Given the description of an element on the screen output the (x, y) to click on. 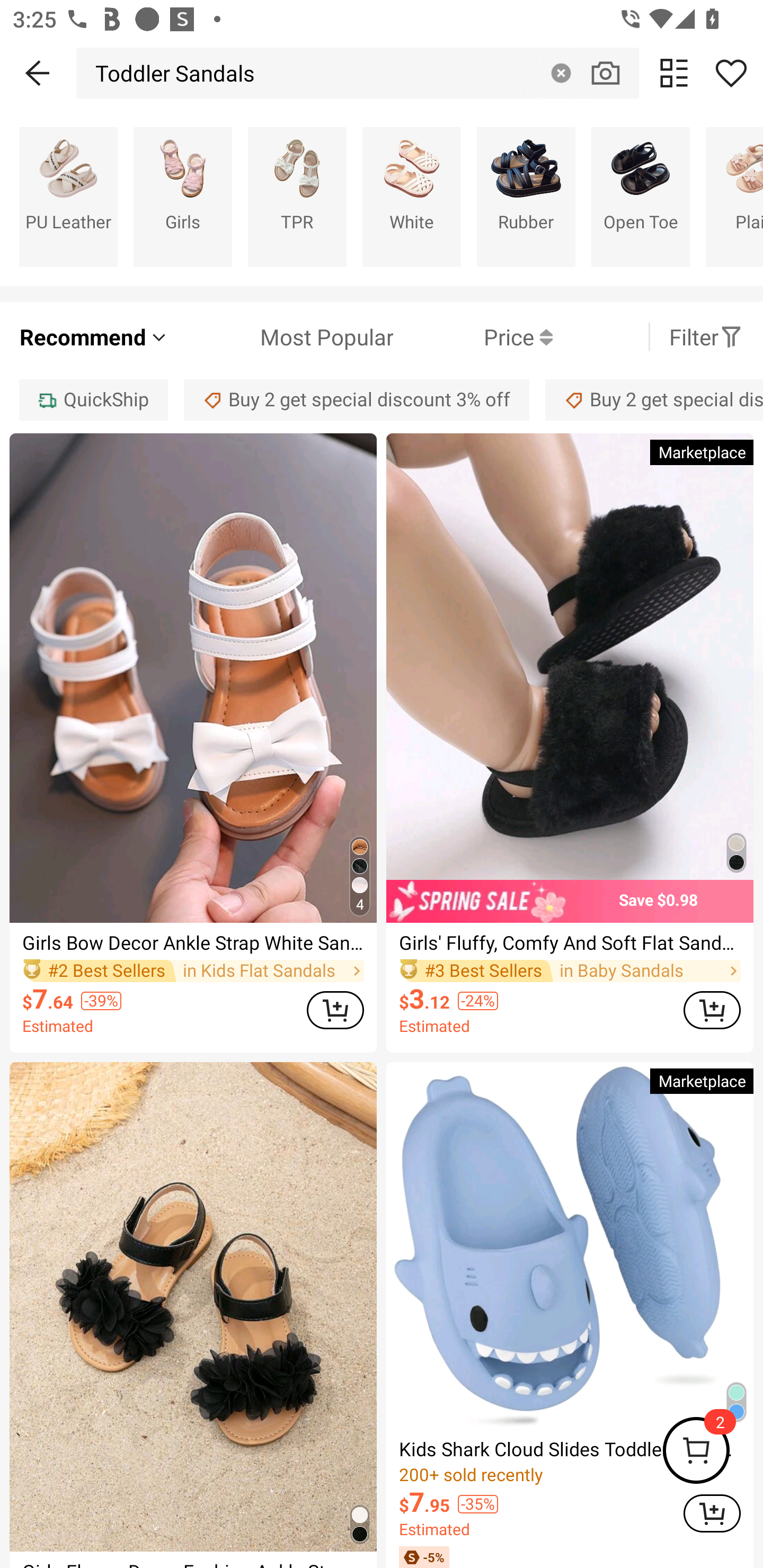
Toddler Sandals (170, 72)
Clear (560, 72)
change view (673, 72)
Share (730, 72)
PU Leather (68, 196)
Girls (182, 196)
TPR (296, 196)
White (411, 196)
Rubber (525, 196)
Open Toe (640, 196)
Recommend (94, 336)
Most Popular (280, 336)
Price (472, 336)
Filter (705, 336)
QuickShip (93, 399)
Buy 2 get special discount 3% off (356, 399)
Buy 2 get special discount 5% off (654, 399)
#2 Best Sellers in Kids Flat Sandals (192, 970)
#3 Best Sellers in Baby Sandals (569, 970)
ADD TO CART (334, 1009)
ADD TO CART (711, 1009)
ADD TO CART (711, 1512)
